Given the description of an element on the screen output the (x, y) to click on. 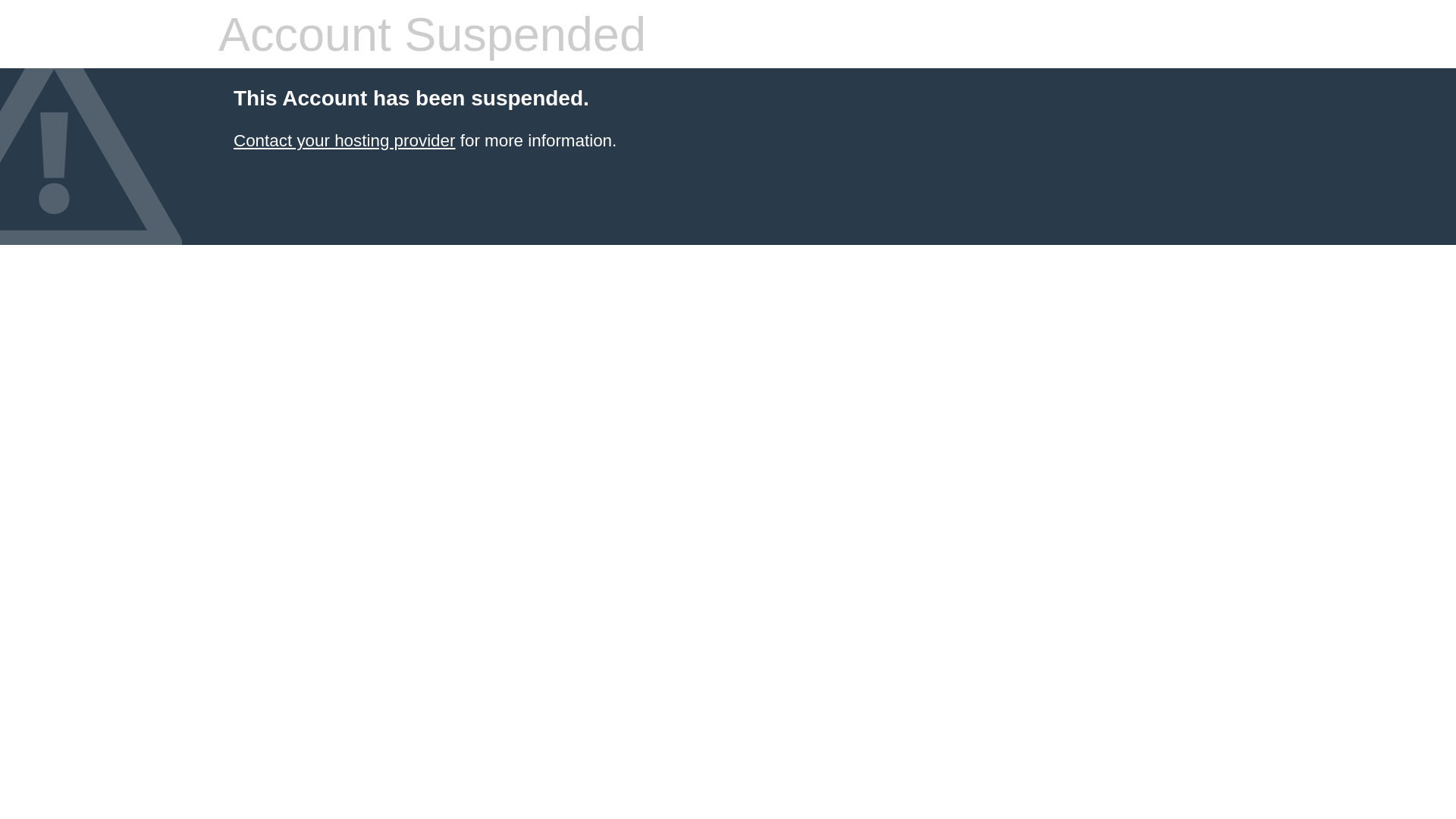
Contact your hosting provider Element type: text (344, 140)
